Given the description of an element on the screen output the (x, y) to click on. 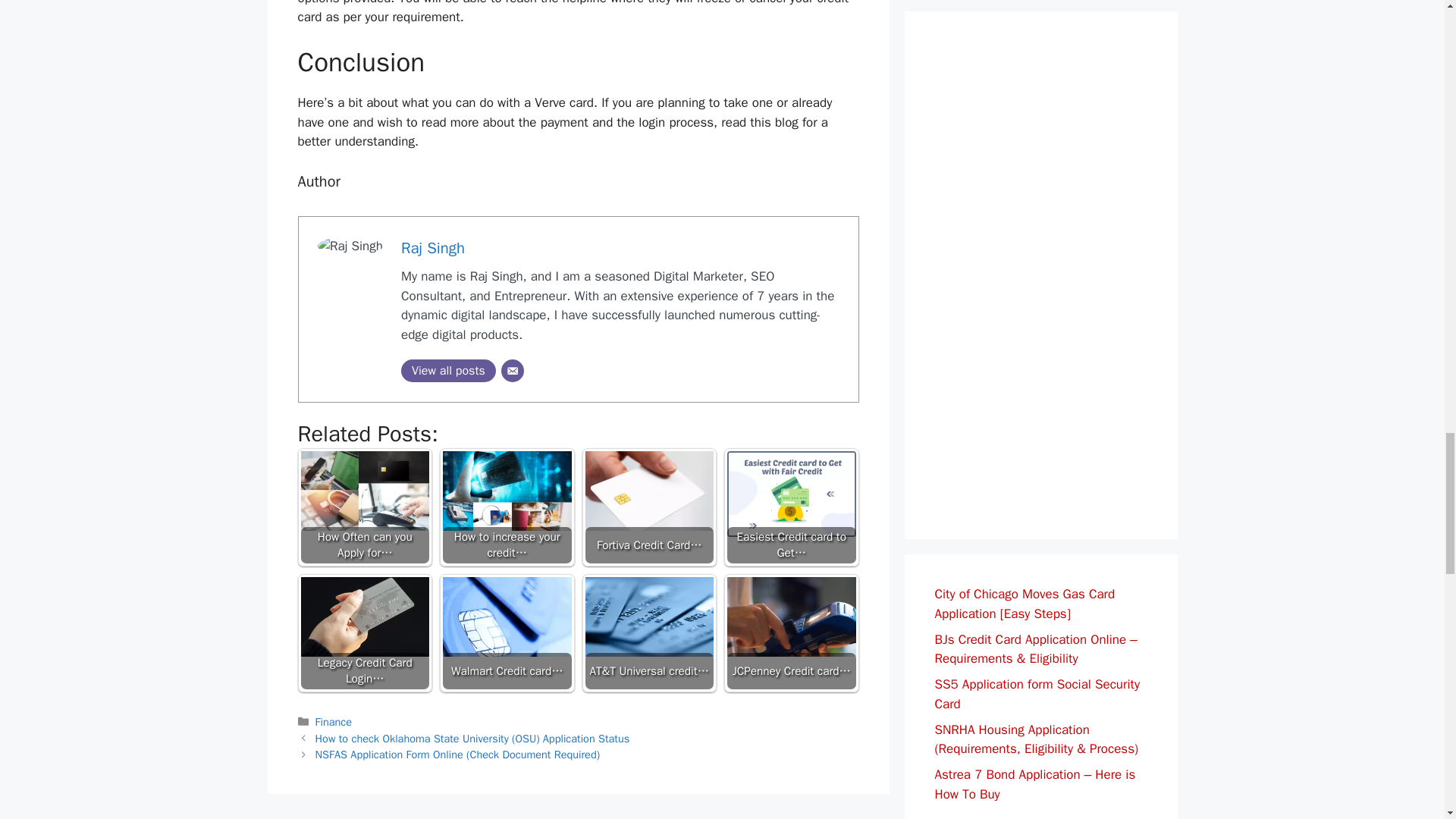
View all posts (448, 370)
Raj Singh (432, 247)
Finance (333, 721)
